Given the description of an element on the screen output the (x, y) to click on. 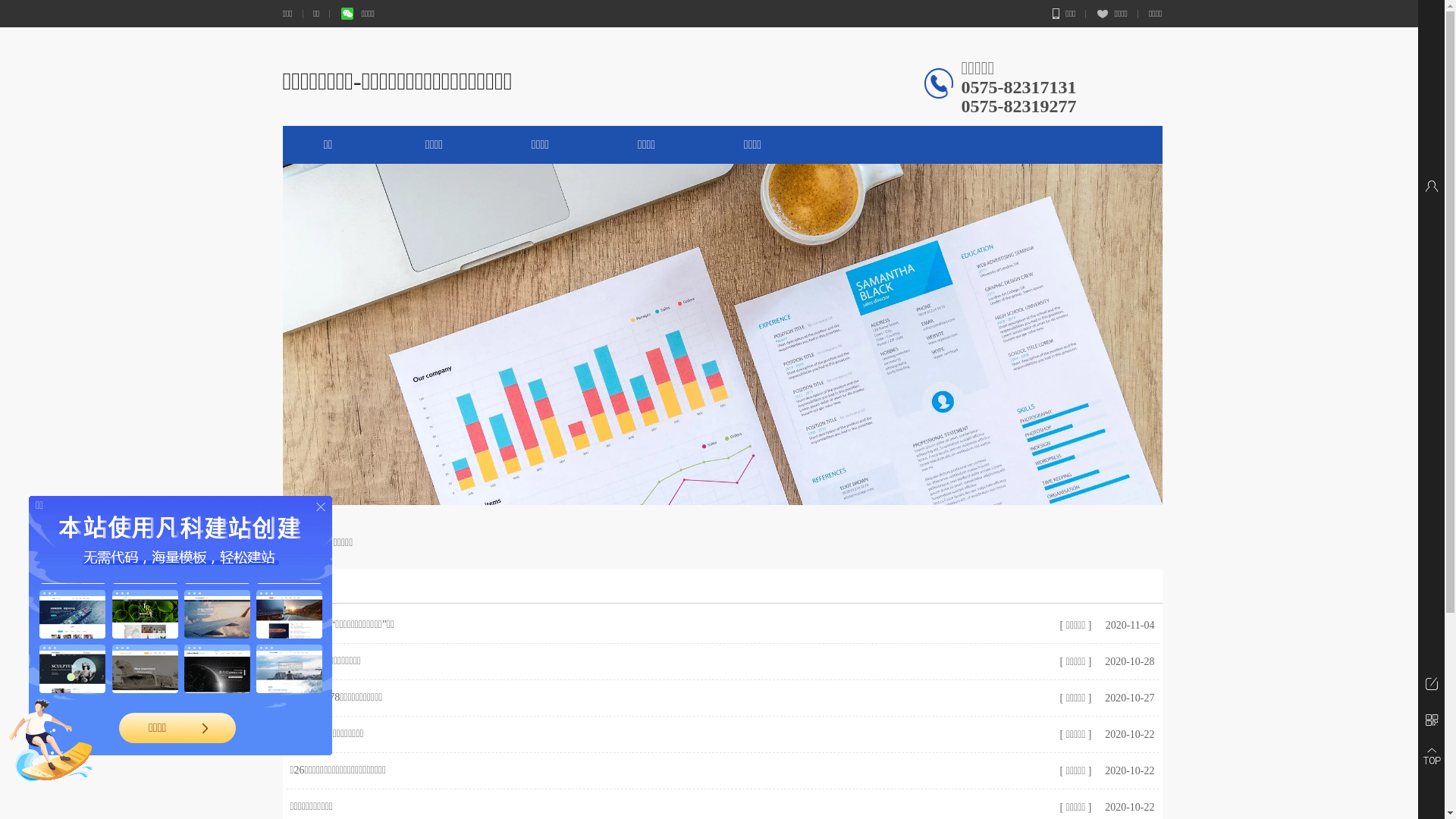
2020-11-04 Element type: text (1127, 624)
2020-10-27 Element type: text (1127, 697)
2020-10-22 Element type: text (1127, 733)
2020-10-22 Element type: text (1127, 769)
2020-10-28 Element type: text (1127, 660)
2020-10-22 Element type: text (1127, 806)
